Given the description of an element on the screen output the (x, y) to click on. 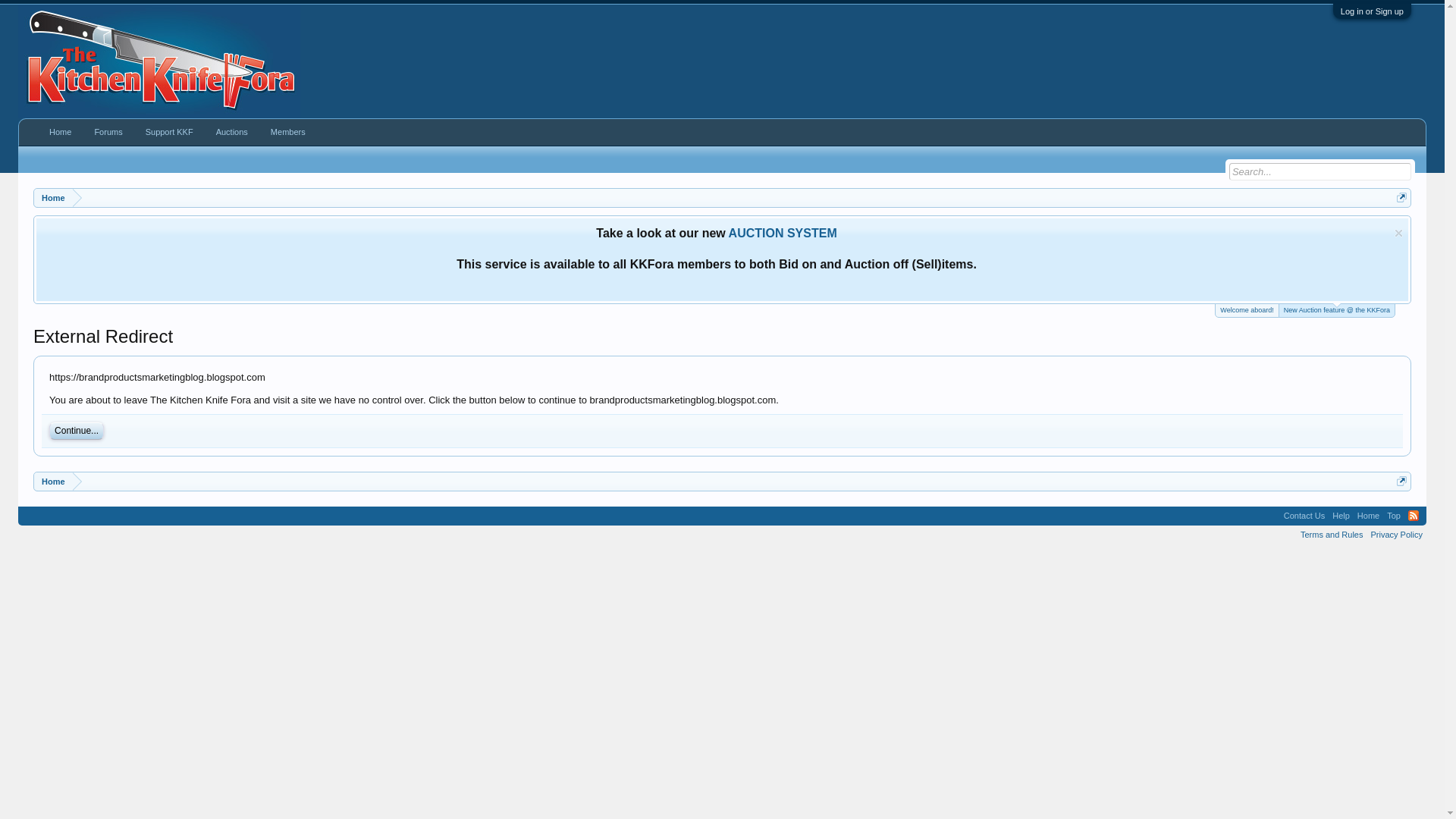
Privacy Policy (1396, 533)
Top (1394, 515)
Home (52, 481)
RSS (1412, 515)
Open quick navigation (1401, 197)
AUCTION SYSTEM (783, 232)
Continue... (76, 430)
Log in or Sign up (1371, 10)
Open quick navigation (1401, 480)
Forums (107, 131)
Home (59, 131)
RSS feed for The Kitchen Knife Fora (1412, 515)
Home (52, 198)
Terms and Rules (1331, 533)
Support KKF (169, 131)
